Given the description of an element on the screen output the (x, y) to click on. 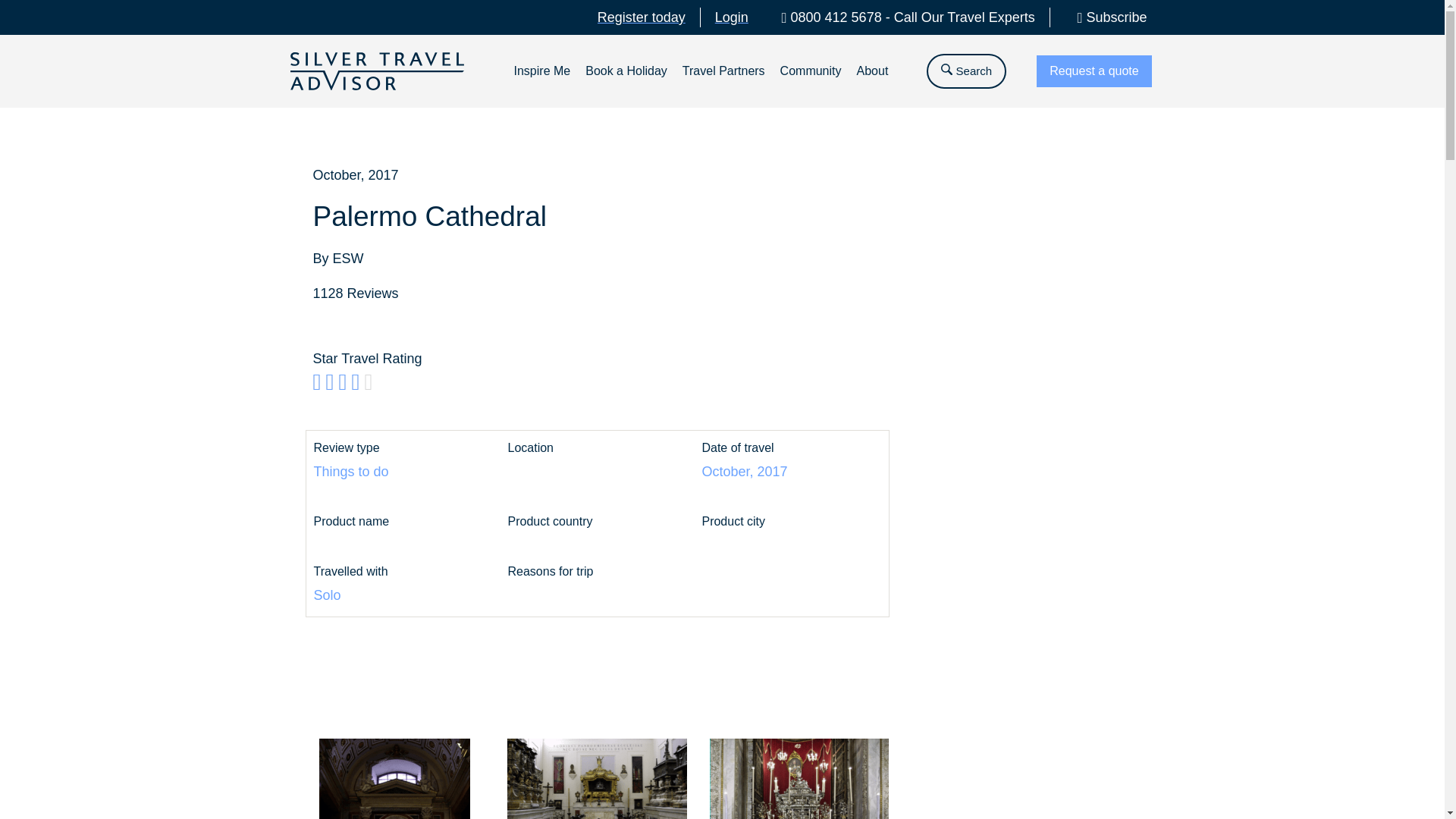
Inspire Me (541, 30)
0800 412 5678 - Call Our Travel Experts (901, 17)
Login (731, 17)
Register today (640, 17)
Subscribe (1105, 17)
